Given the description of an element on the screen output the (x, y) to click on. 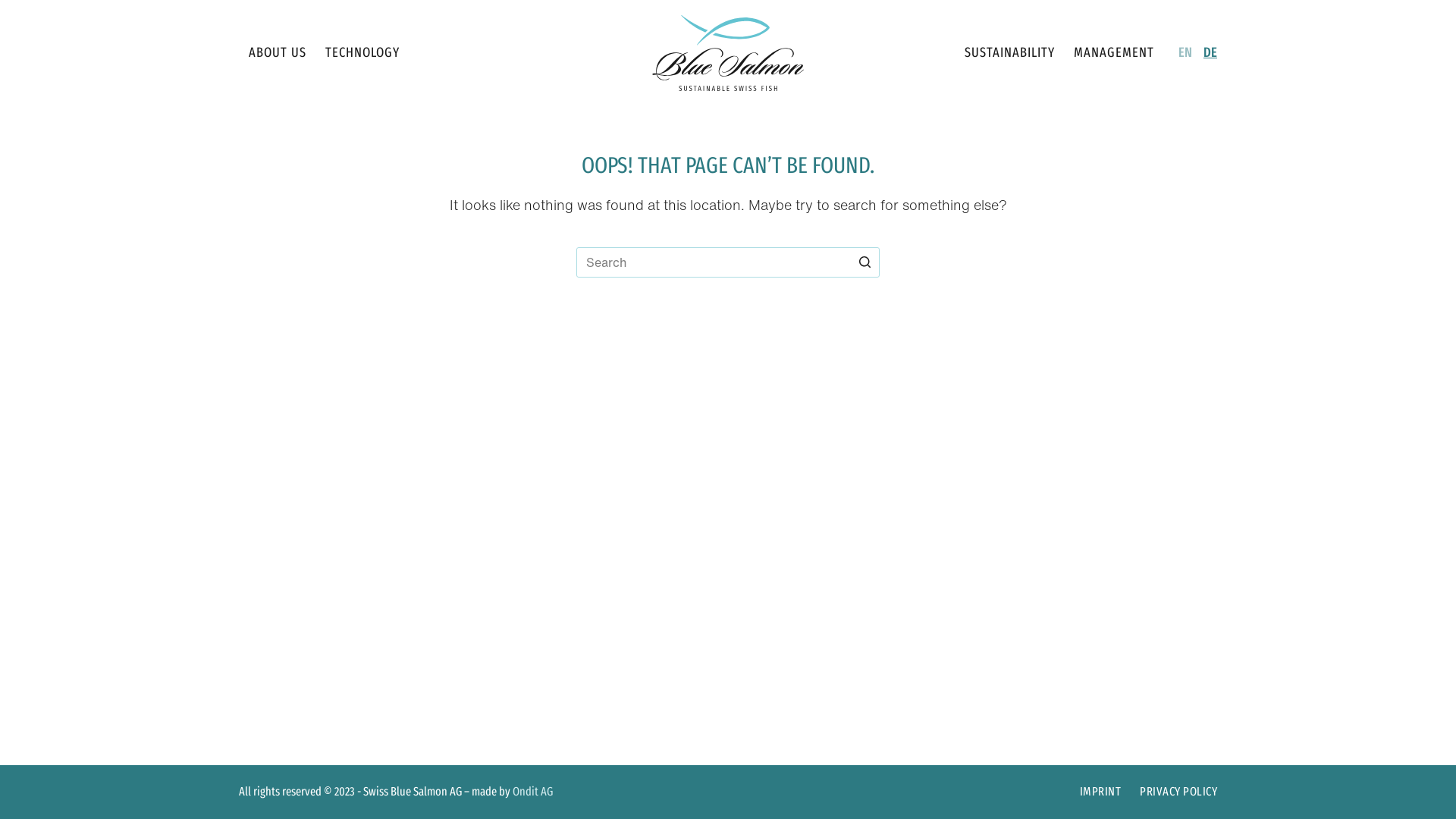
PRIVACY POLICY Element type: text (1177, 792)
EN Element type: text (1185, 52)
ABOUT US Element type: text (276, 53)
TECHNOLOGY Element type: text (361, 53)
Ondit AG Element type: text (532, 791)
Search for... Element type: hover (727, 262)
Skip to content Element type: text (15, 7)
DE Element type: text (1210, 52)
Sign up Element type: text (727, 509)
SUSTAINABILITY Element type: text (1008, 53)
MANAGEMENT Element type: text (1113, 53)
IMPRINT Element type: text (1100, 792)
